Given the description of an element on the screen output the (x, y) to click on. 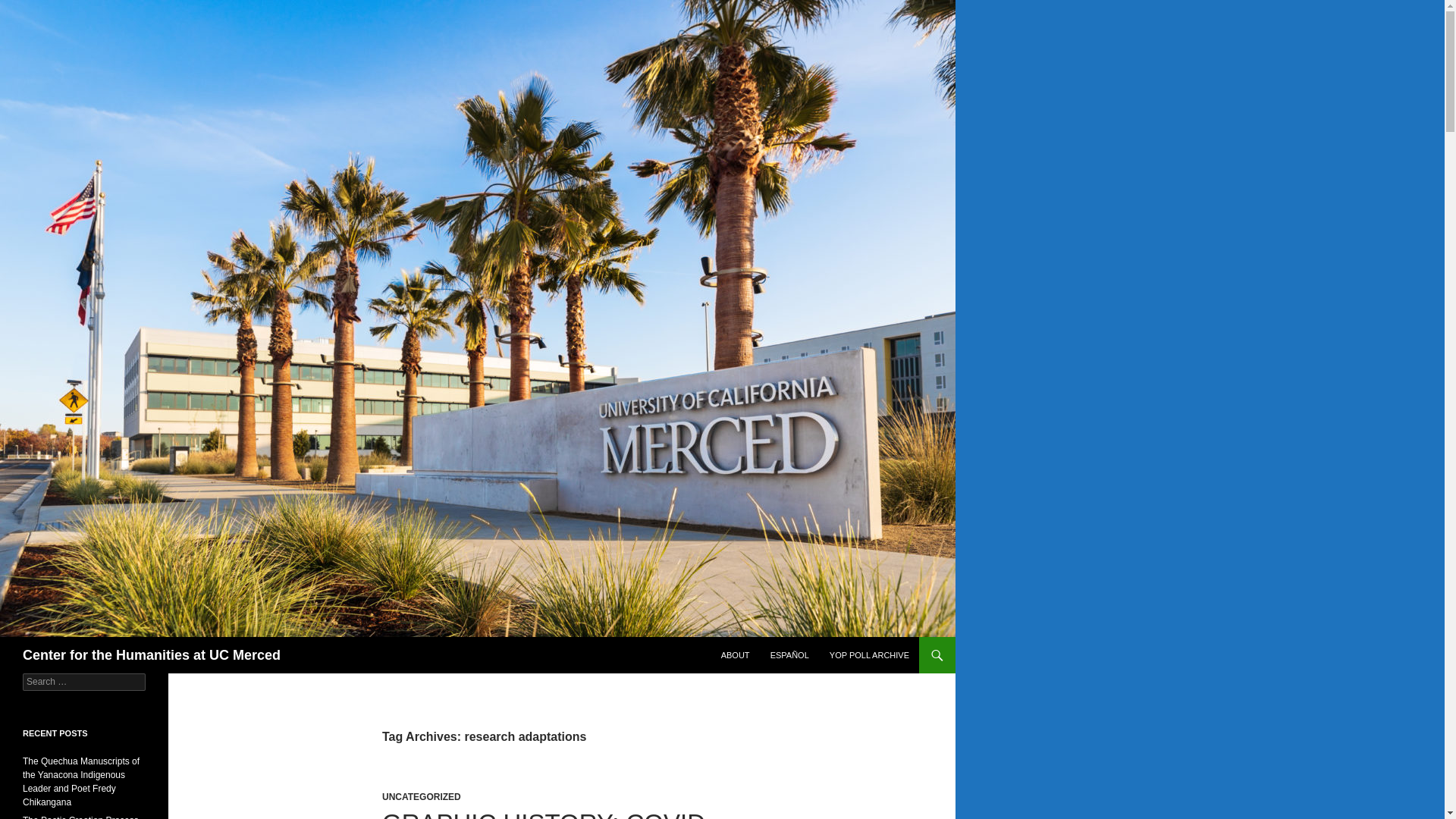
UNCATEGORIZED (421, 796)
Center for the Humanities at UC Merced (152, 655)
YOP POLL ARCHIVE (869, 655)
ABOUT (734, 655)
Search (30, 8)
